Given the description of an element on the screen output the (x, y) to click on. 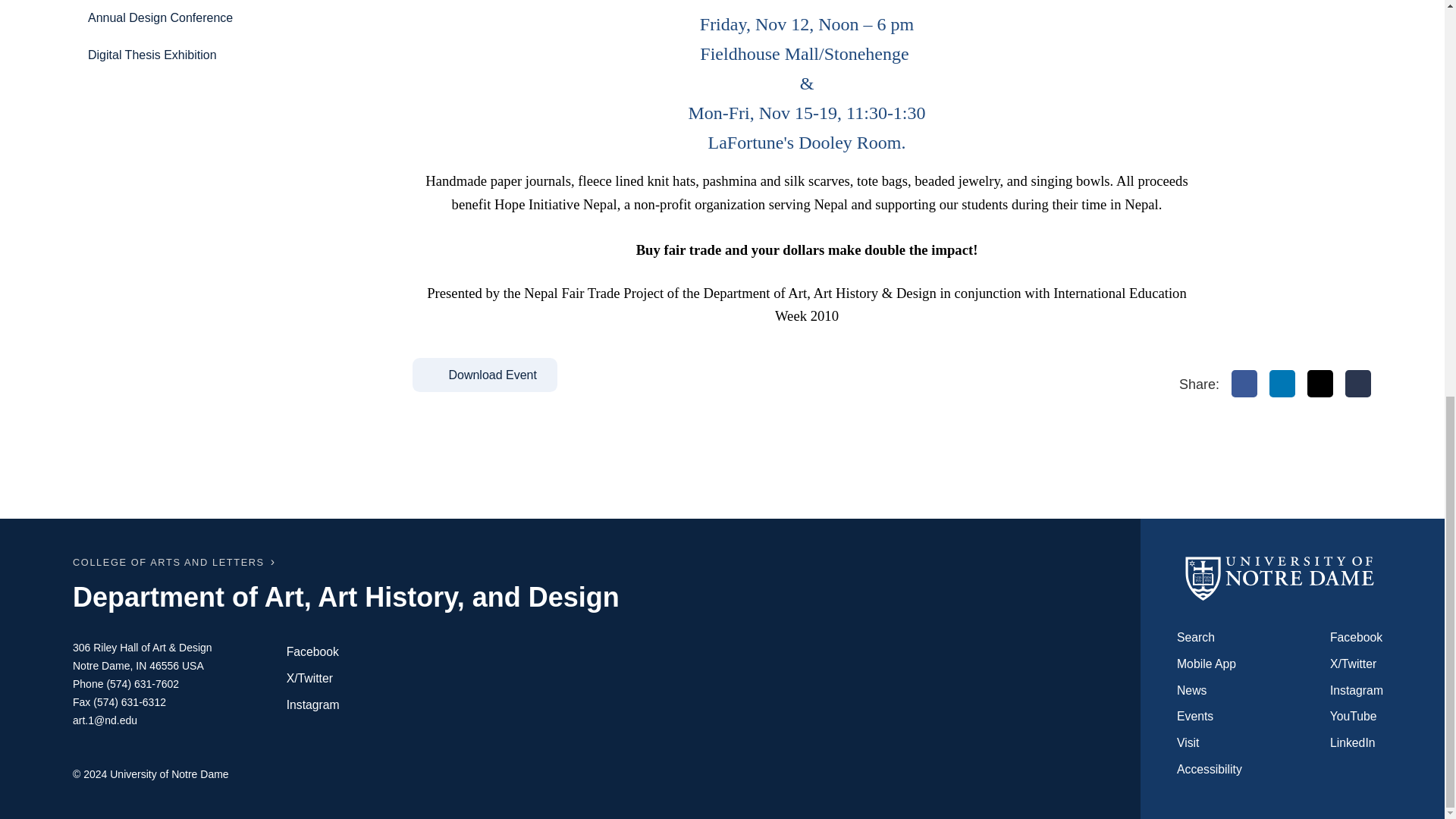
LinkedIn (1282, 383)
Download Event (484, 374)
Email (1358, 383)
Facebook (1244, 383)
